Given the description of an element on the screen output the (x, y) to click on. 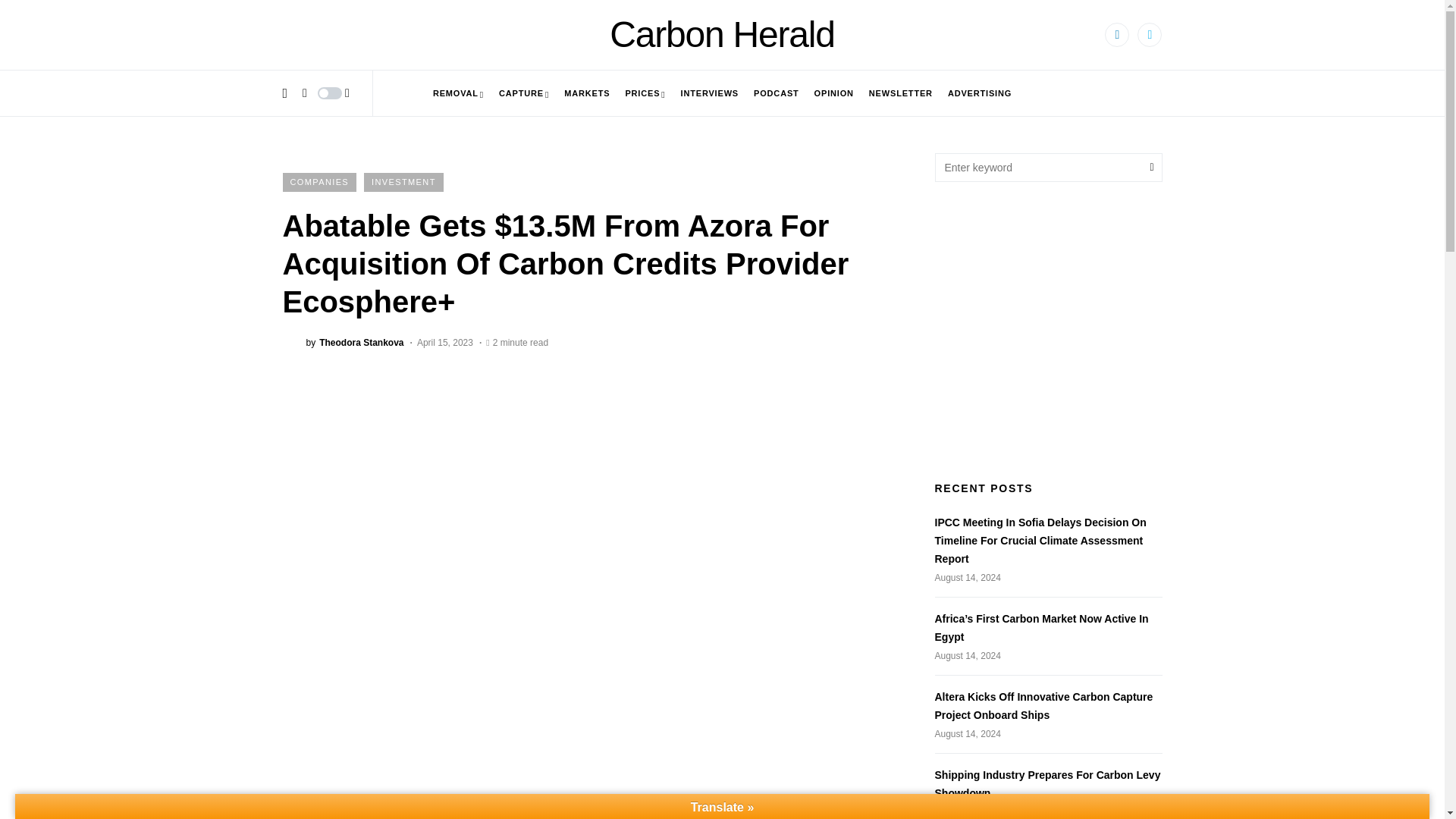
REMOVAL (457, 93)
View all posts by Theodora Stankova (342, 342)
Carbon Herald (722, 34)
